Given the description of an element on the screen output the (x, y) to click on. 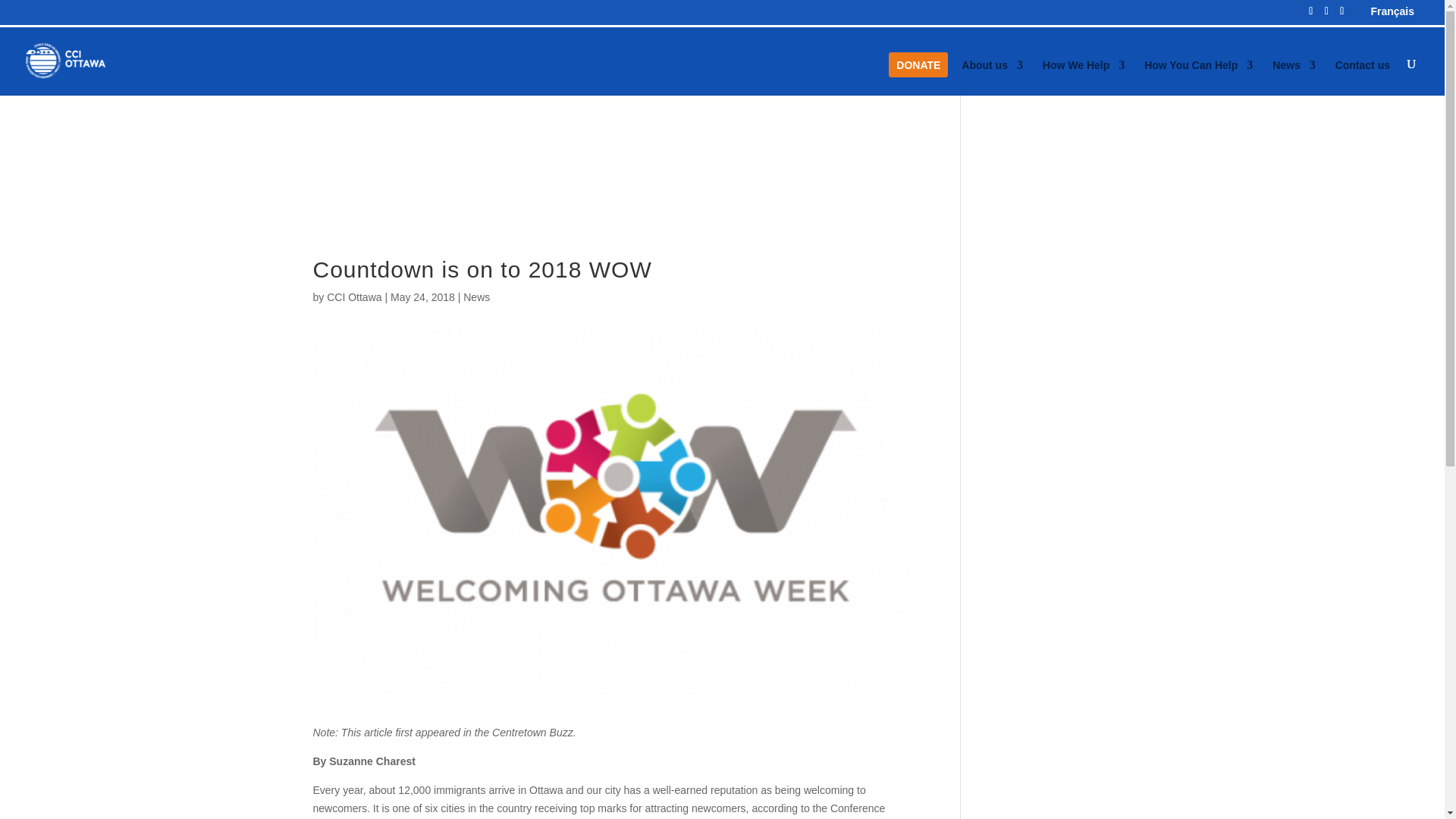
News (1294, 76)
About us (991, 76)
Posts by CCI Ottawa (353, 297)
How You Can Help (1198, 76)
DONATE (918, 76)
Contact us (1362, 76)
How We Help (1083, 76)
